Given the description of an element on the screen output the (x, y) to click on. 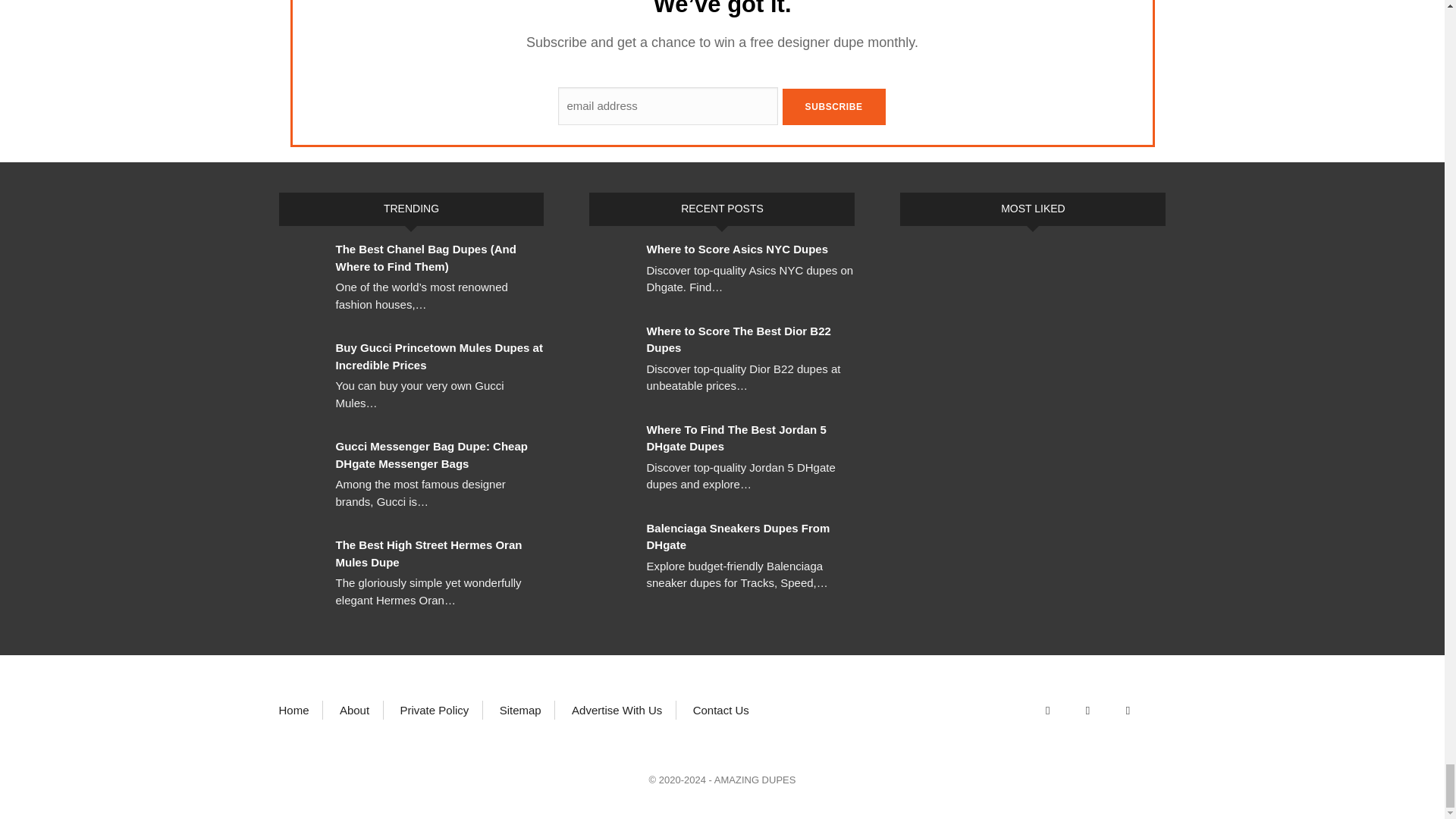
Subscribe (833, 106)
